Given the description of an element on the screen output the (x, y) to click on. 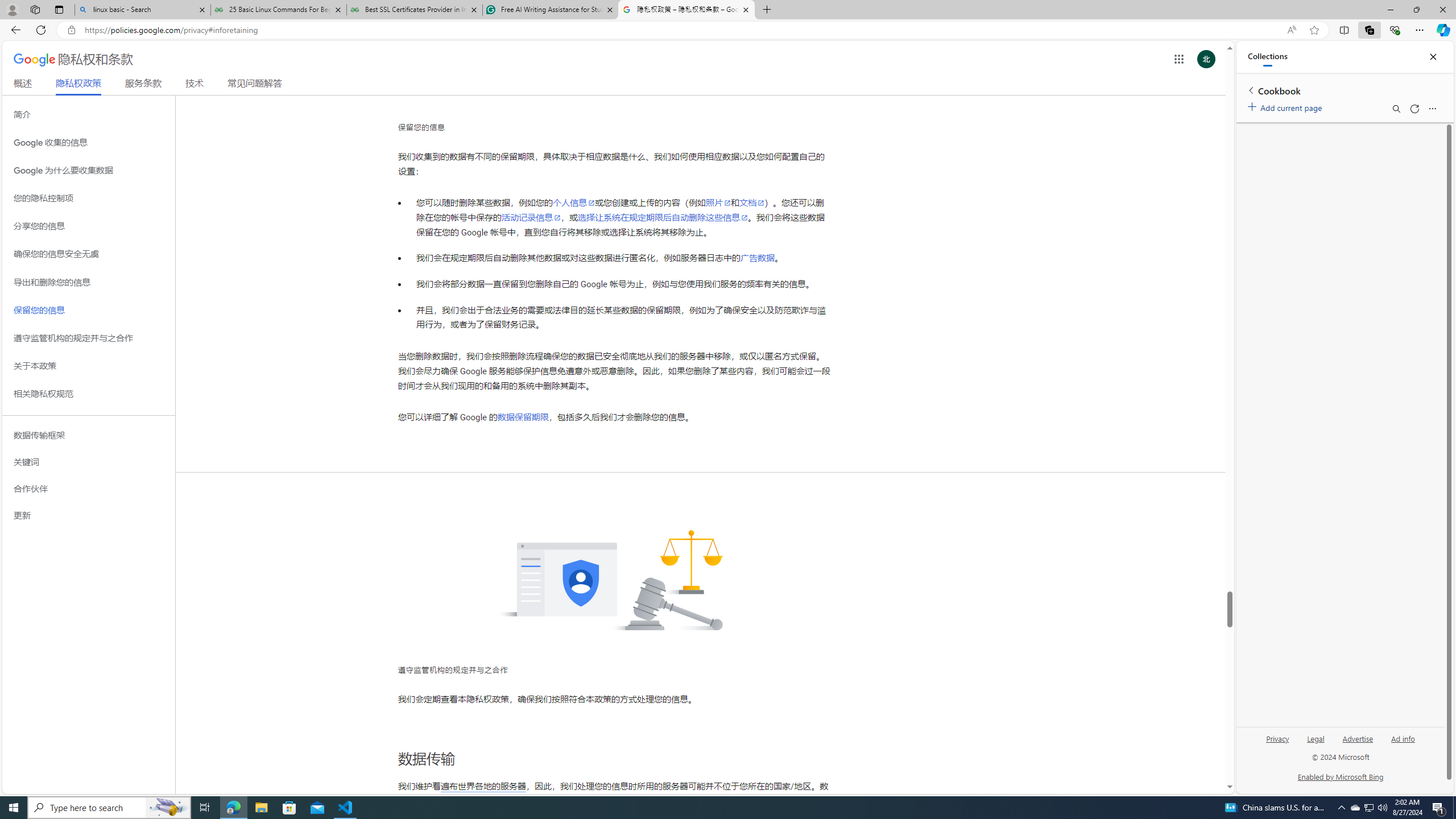
Add current page (1286, 105)
